Given the description of an element on the screen output the (x, y) to click on. 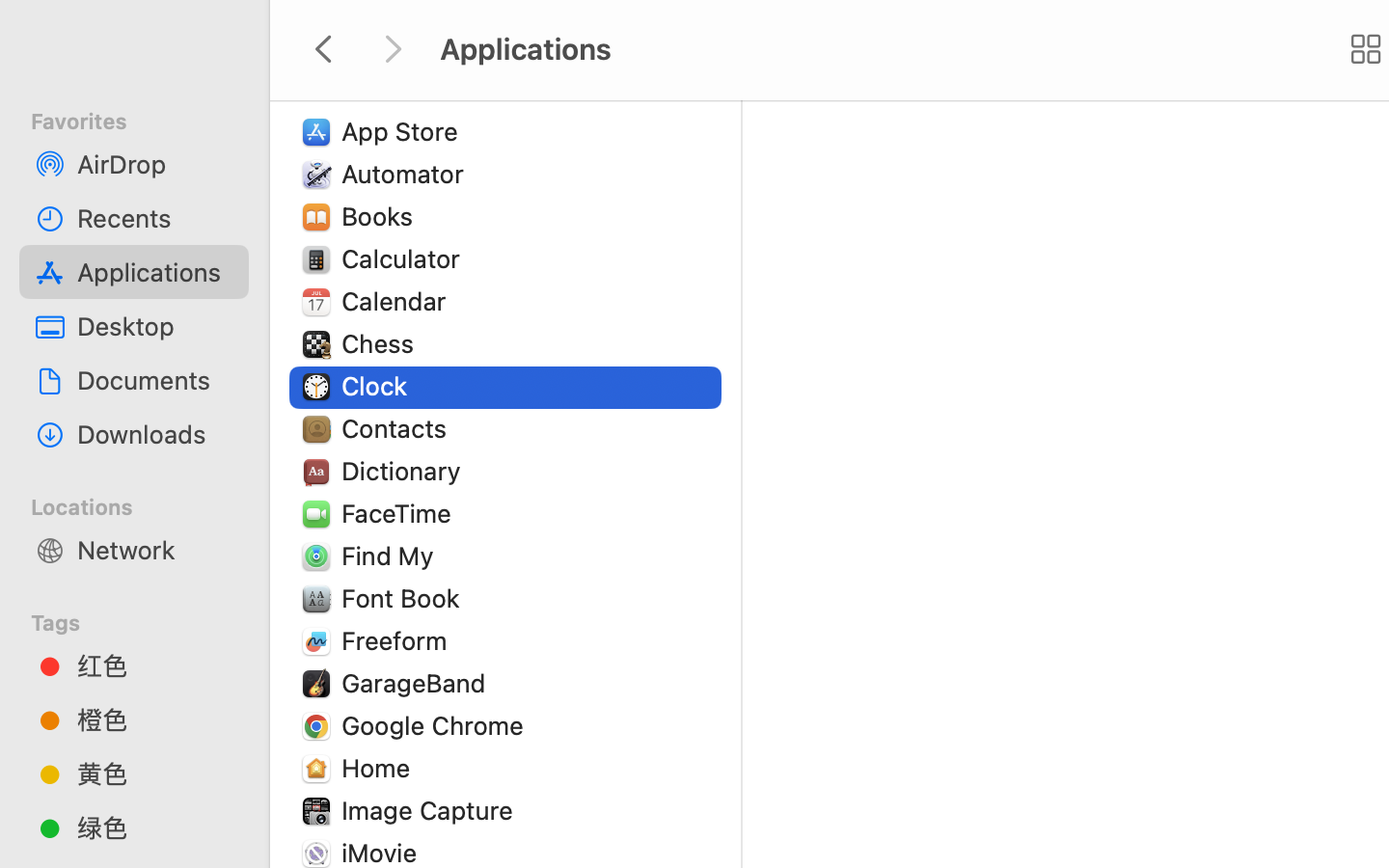
Find My Element type: AXTextField (391, 555)
Chess Element type: AXTextField (381, 342)
Applications Element type: AXStaticText (155, 271)
Font Book Element type: AXTextField (404, 597)
Calculator Element type: AXTextField (404, 258)
